Given the description of an element on the screen output the (x, y) to click on. 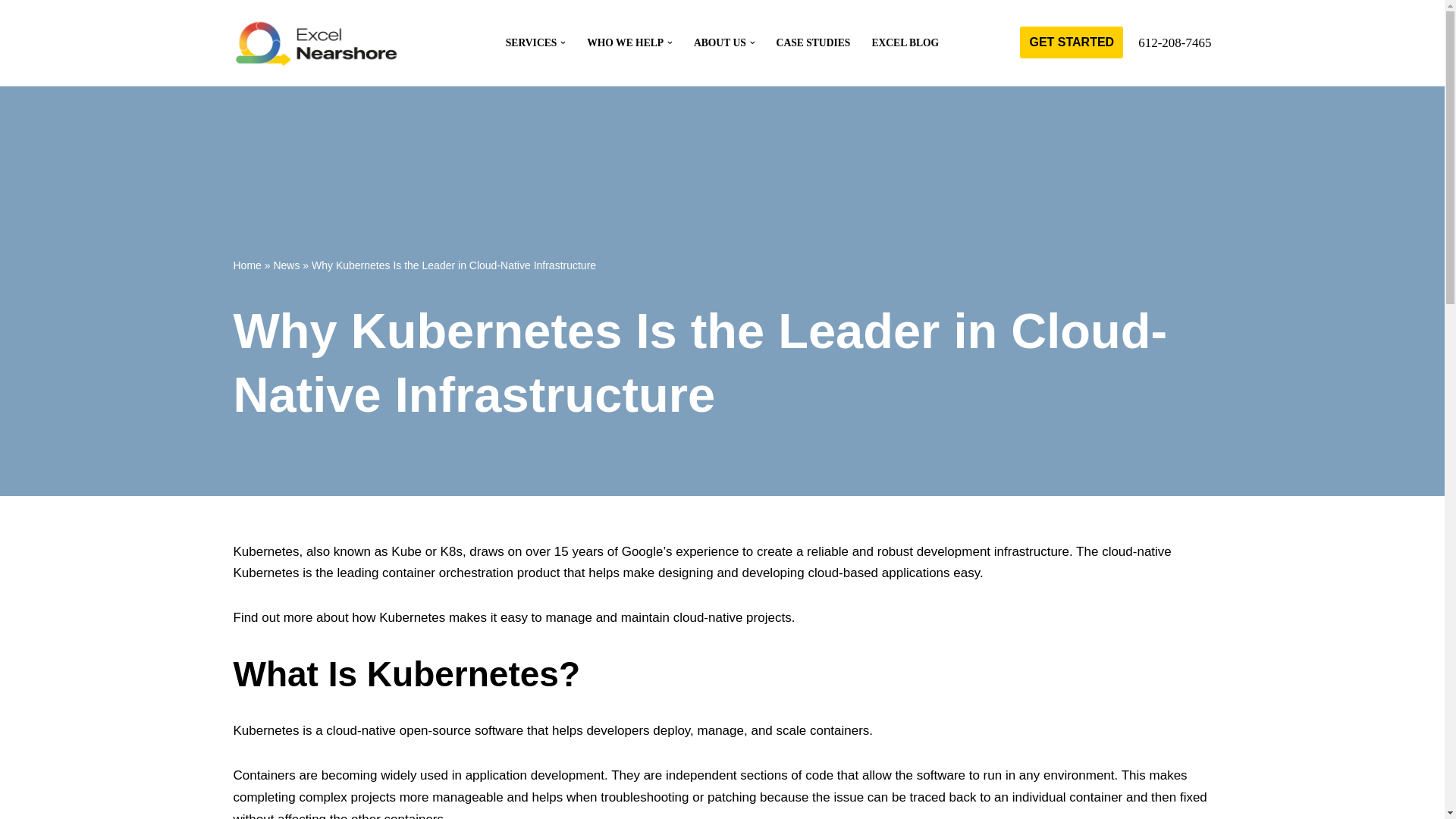
ABOUT US (719, 42)
SERVICES (531, 42)
CASE STUDIES (813, 42)
WHO WE HELP (624, 42)
GET STARTED (1071, 42)
612-208-7465 (1174, 42)
Skip to content (11, 31)
EXCEL BLOG (904, 42)
